Given the description of an element on the screen output the (x, y) to click on. 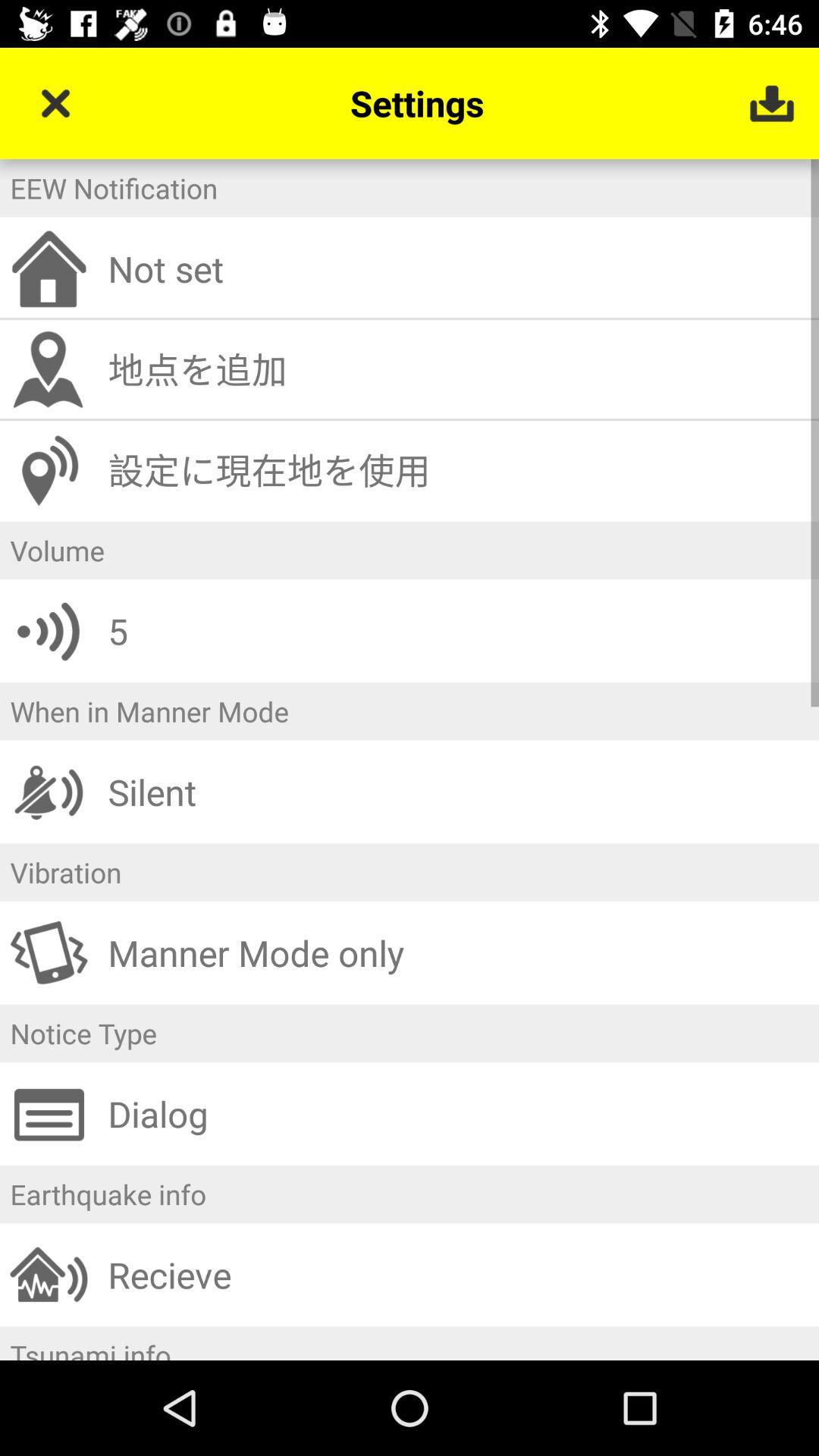
turn on the earthquake info item (409, 1194)
